Given the description of an element on the screen output the (x, y) to click on. 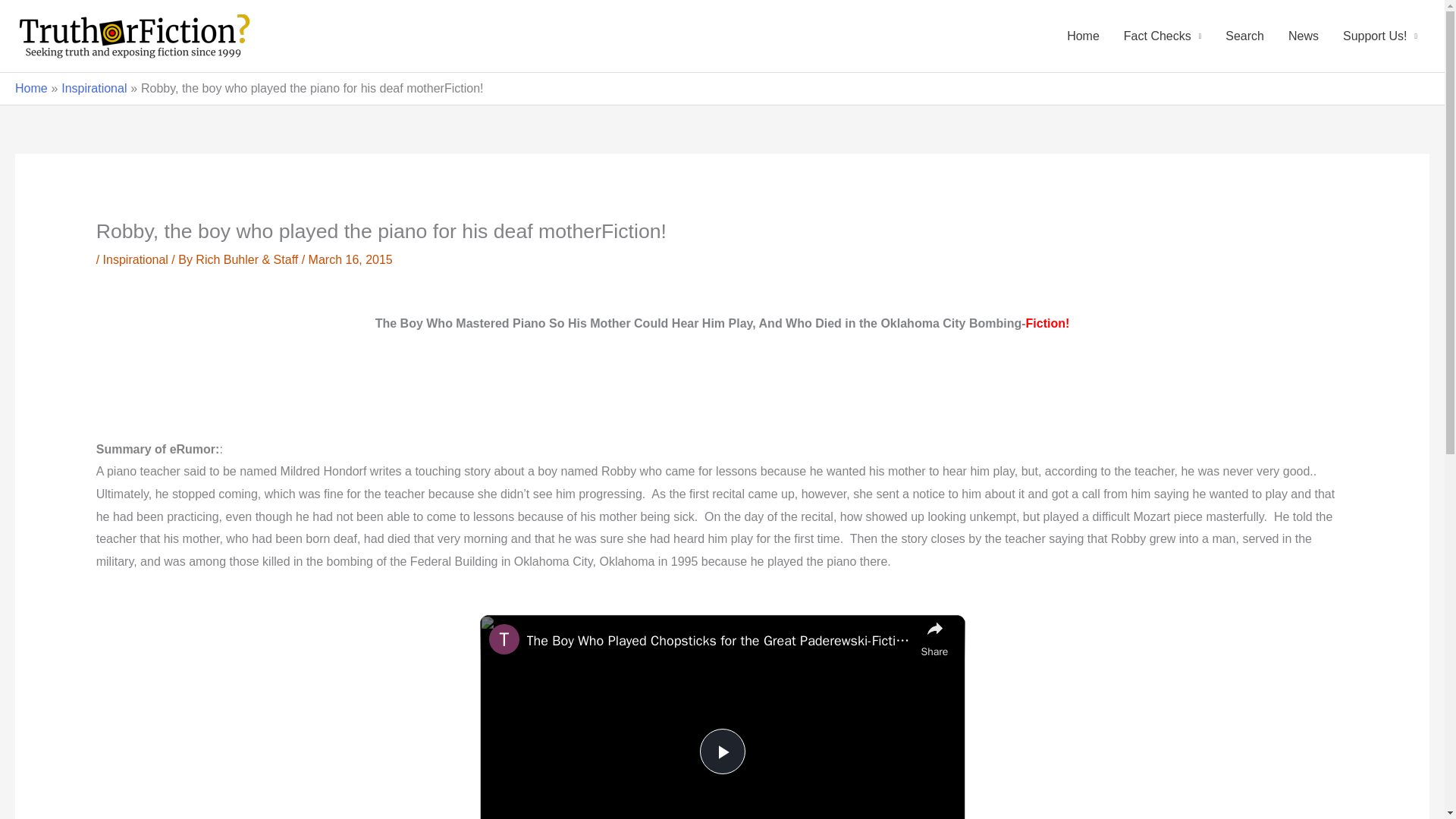
Inspirational (135, 259)
Home (31, 88)
Support Us! (1379, 36)
Play Video (721, 750)
Fact Checks (1162, 36)
Play Video (721, 750)
Inspirational (93, 88)
